Given the description of an element on the screen output the (x, y) to click on. 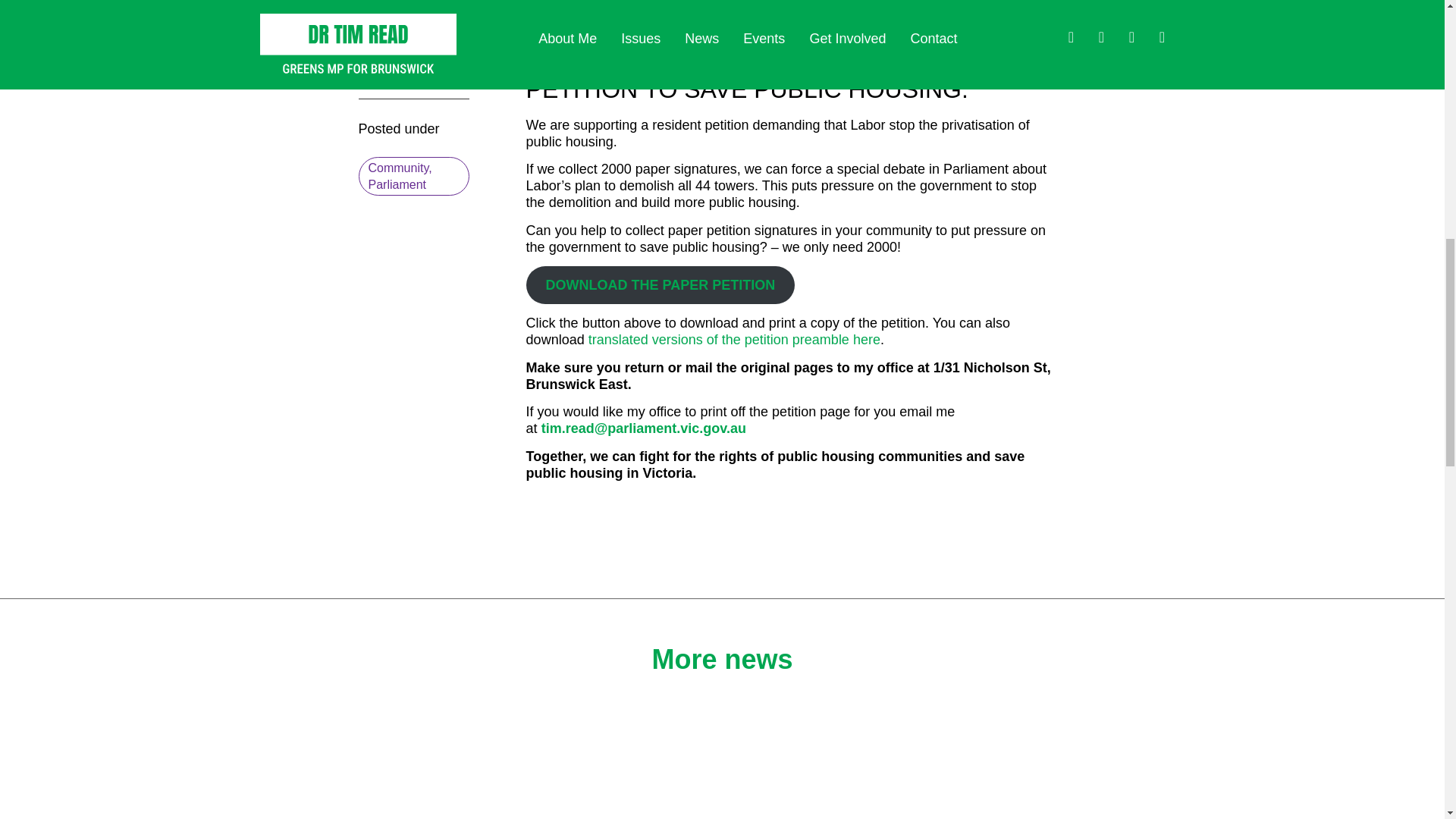
translated versions of the petition preamble here (734, 339)
DOWNLOAD THE PAPER PETITION (659, 284)
